Given the description of an element on the screen output the (x, y) to click on. 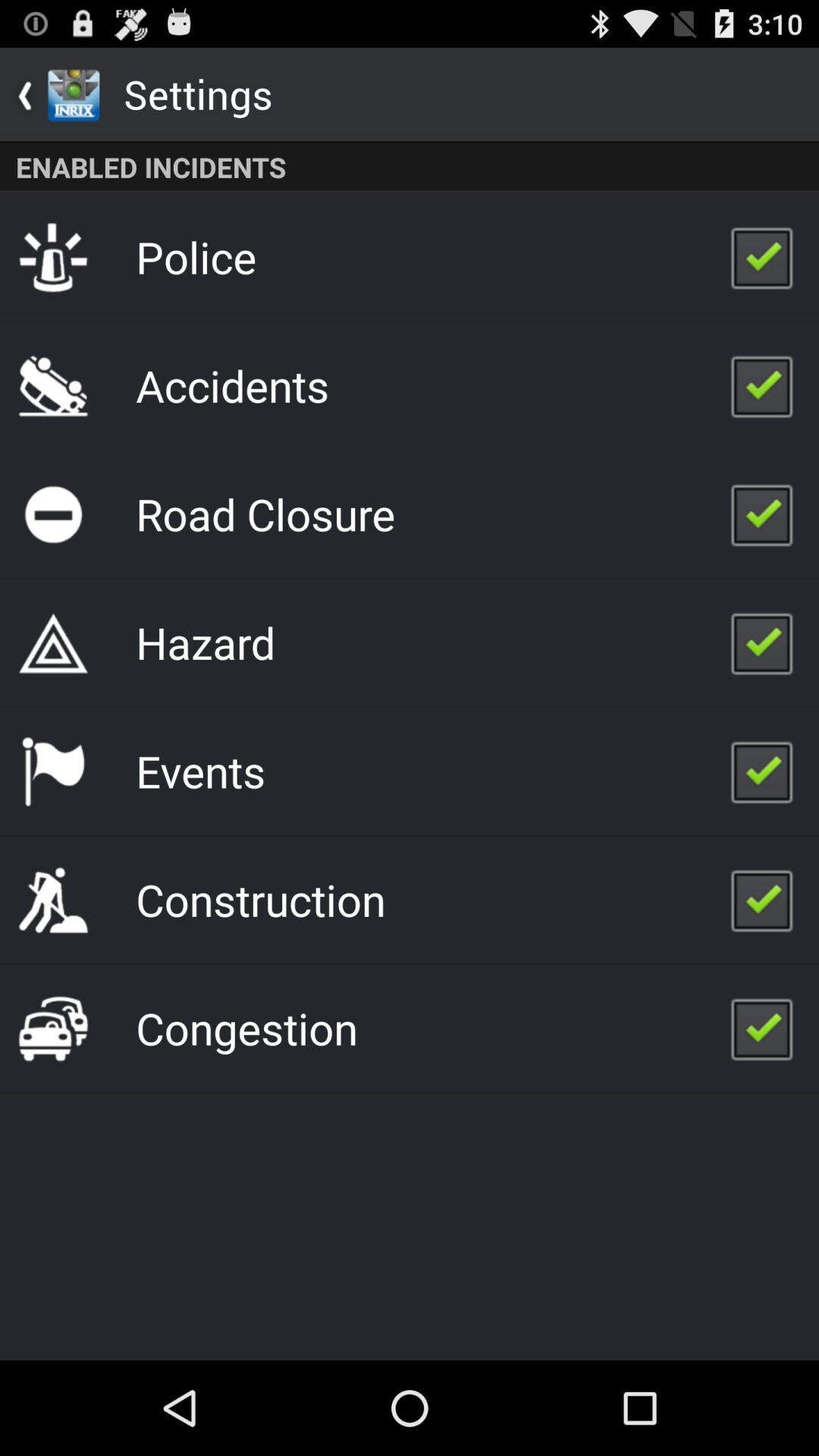
turn on the road closure item (265, 513)
